Given the description of an element on the screen output the (x, y) to click on. 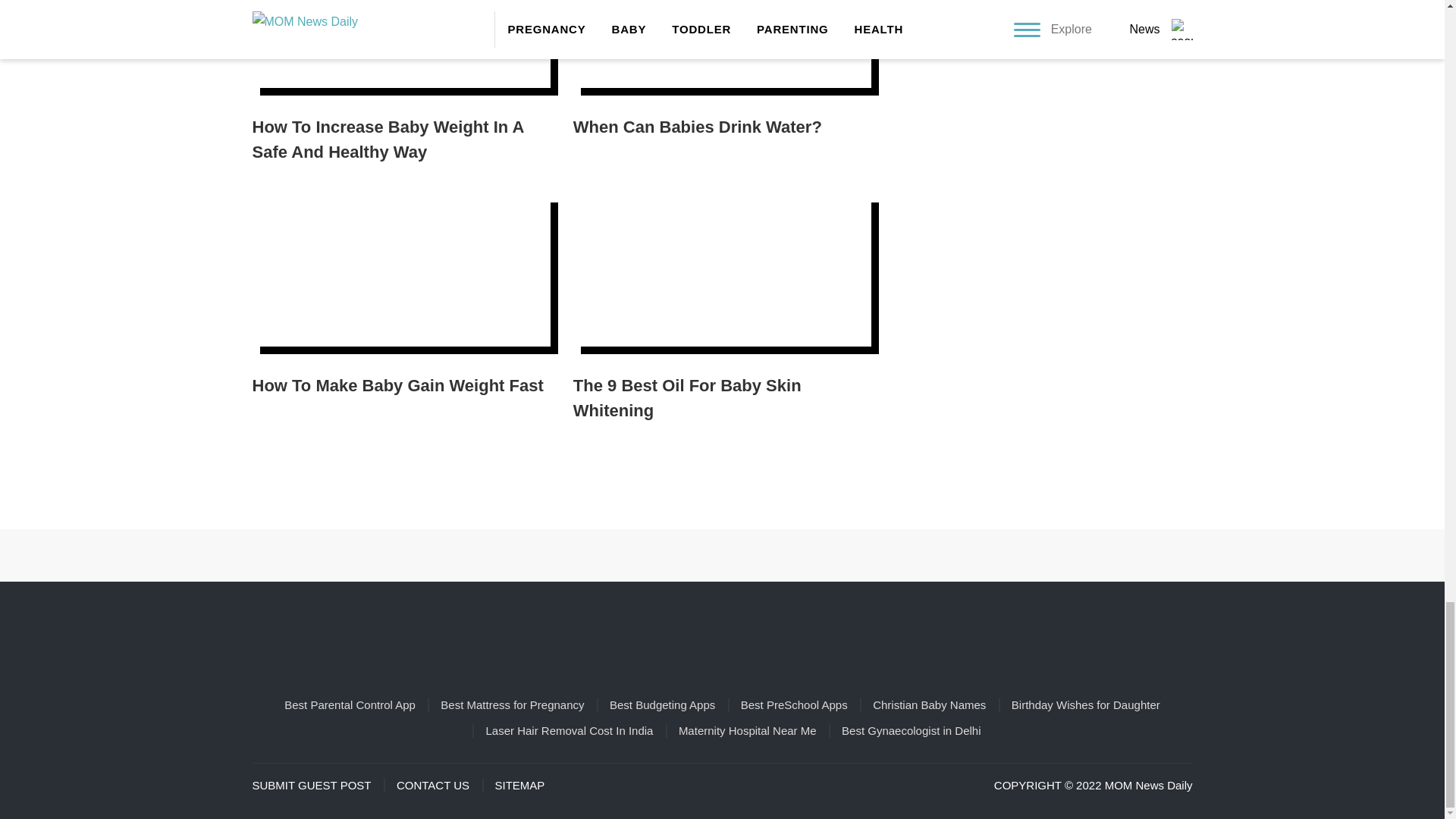
instagram (743, 555)
facebook (657, 555)
pinterest (700, 555)
twitter (787, 555)
